Given the description of an element on the screen output the (x, y) to click on. 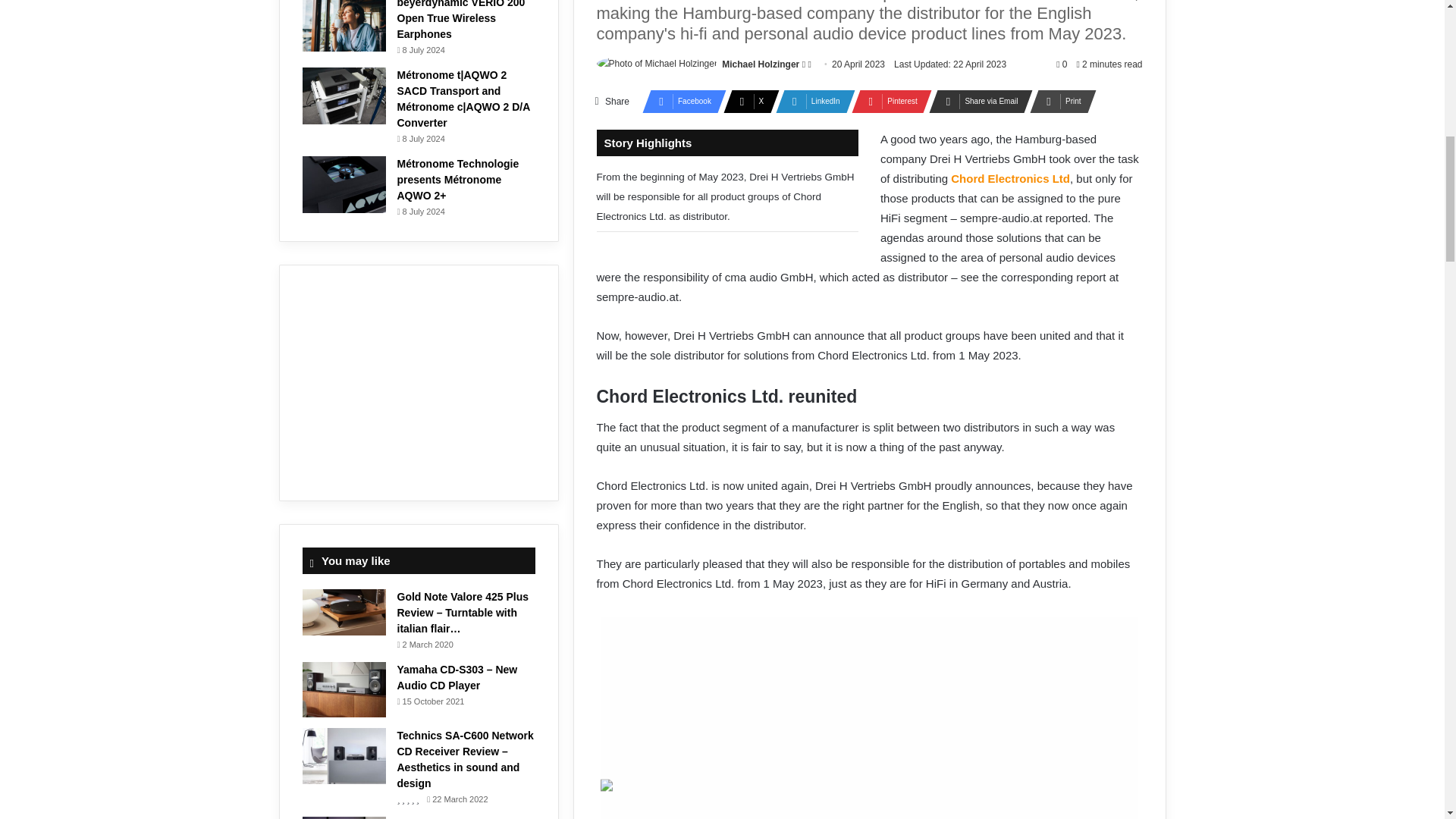
X (746, 101)
Facebook (679, 101)
Michael Holzinger (760, 63)
LinkedIn (810, 101)
Pinterest (887, 101)
